Given the description of an element on the screen output the (x, y) to click on. 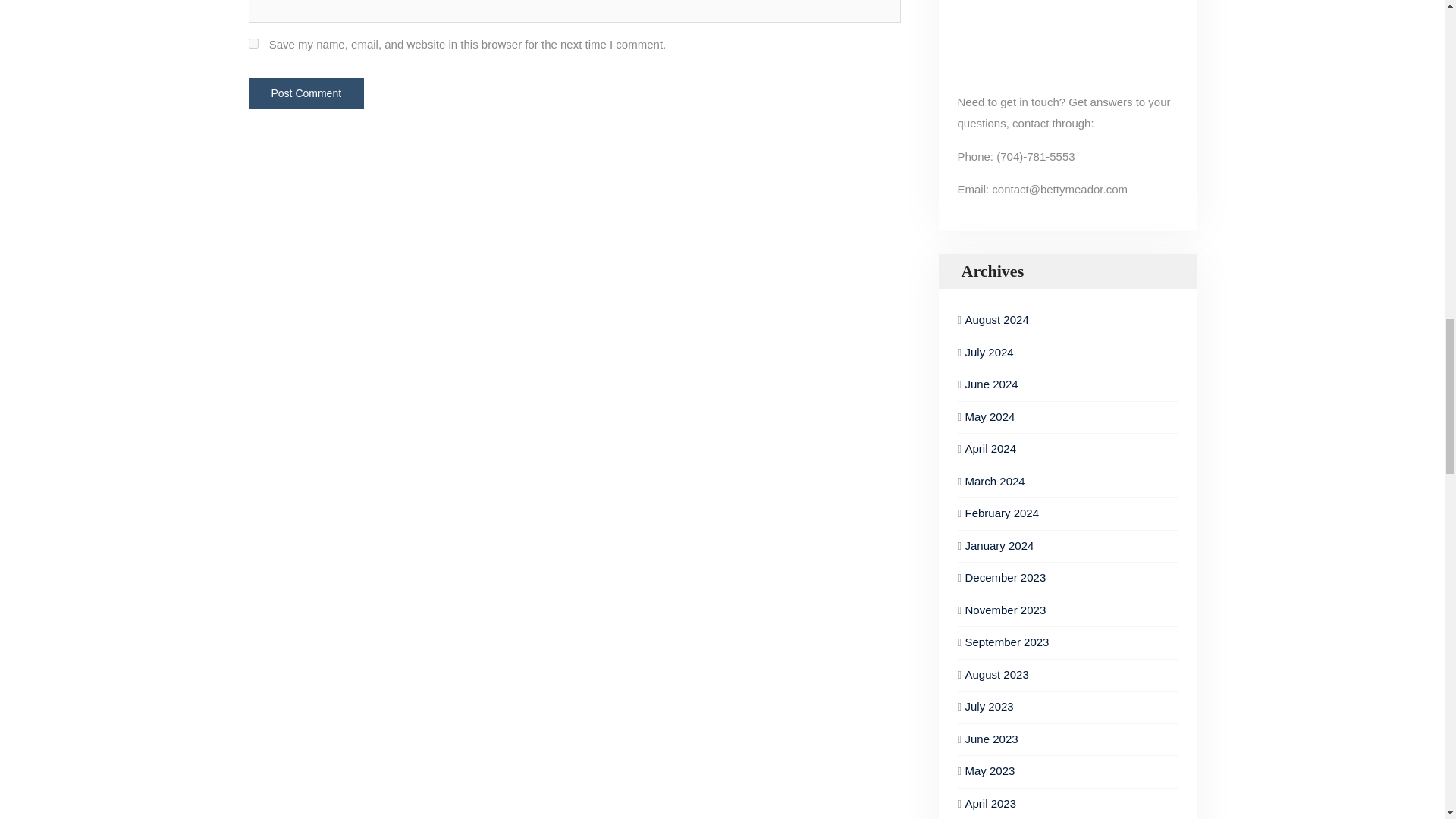
Post Comment (306, 92)
Post Comment (306, 92)
yes (253, 43)
